Given the description of an element on the screen output the (x, y) to click on. 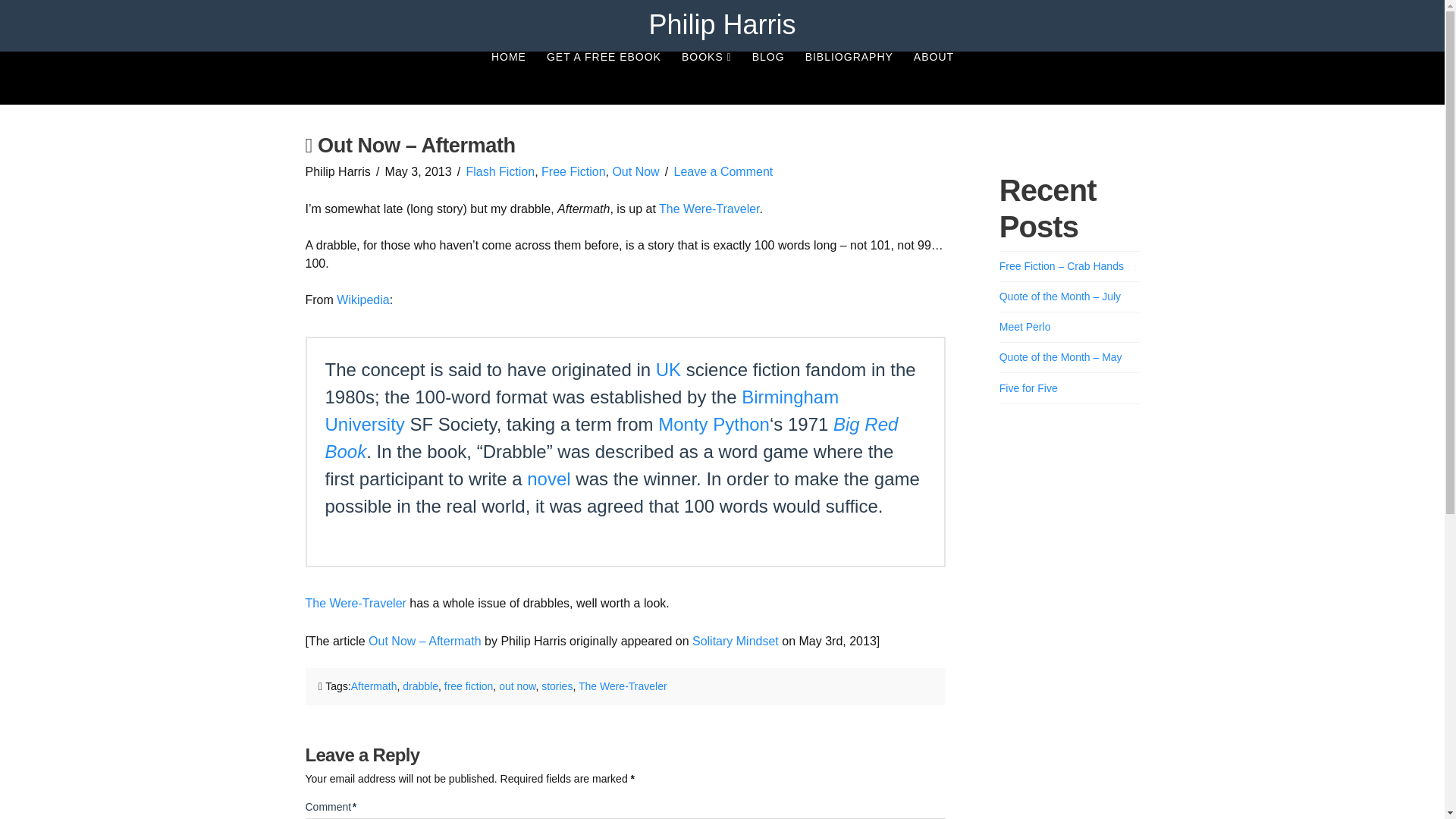
Birmingham University (581, 410)
Free Fiction (573, 171)
Novel (548, 478)
BLOG (767, 77)
United Kingdom (668, 369)
Monty Python (714, 424)
ABOUT (932, 77)
Philip Harris (720, 24)
HOME (507, 77)
BOOKS (706, 77)
